Given the description of an element on the screen output the (x, y) to click on. 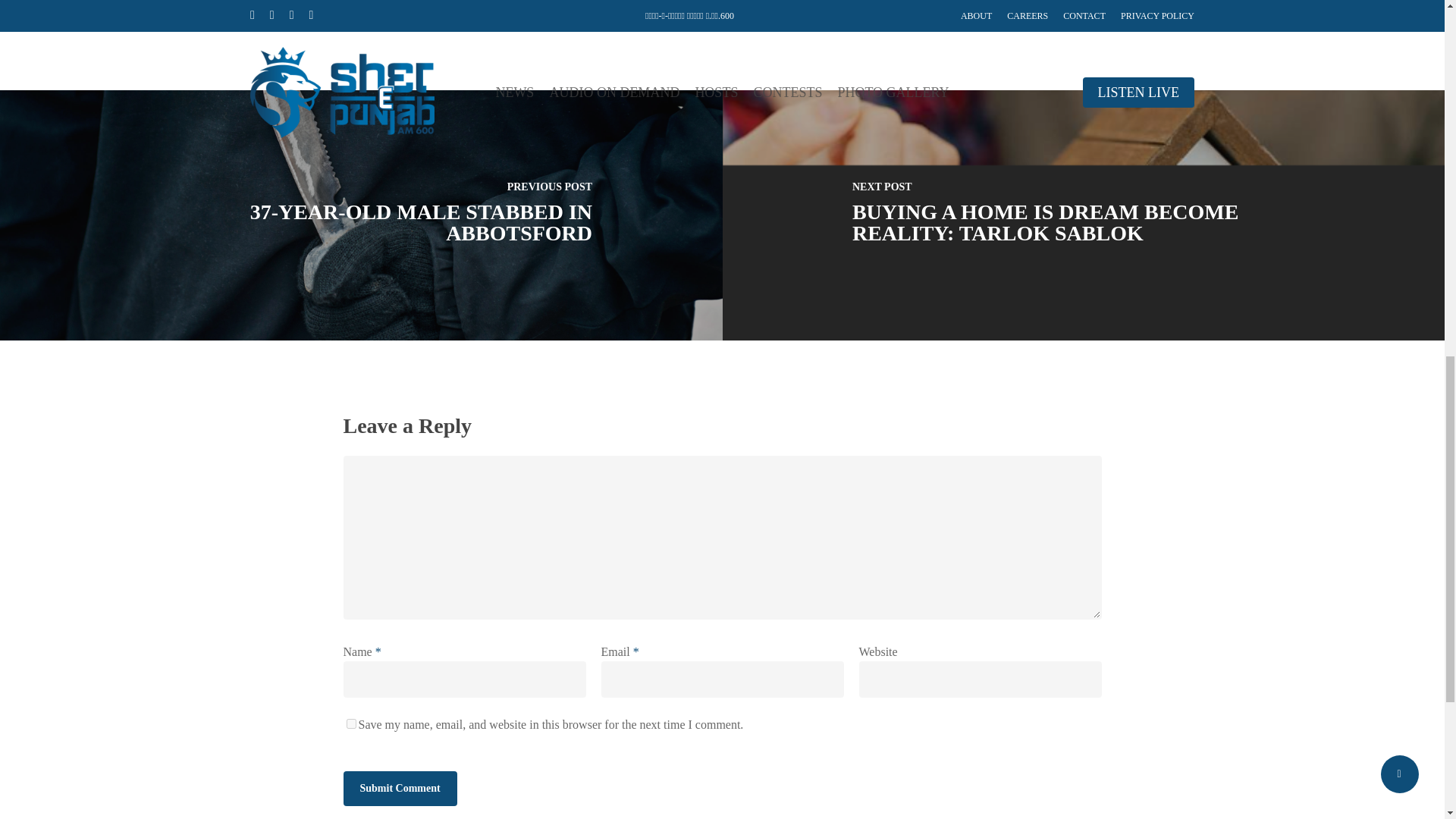
Submit Comment (399, 788)
yes (350, 723)
Submit Comment (399, 788)
